Given the description of an element on the screen output the (x, y) to click on. 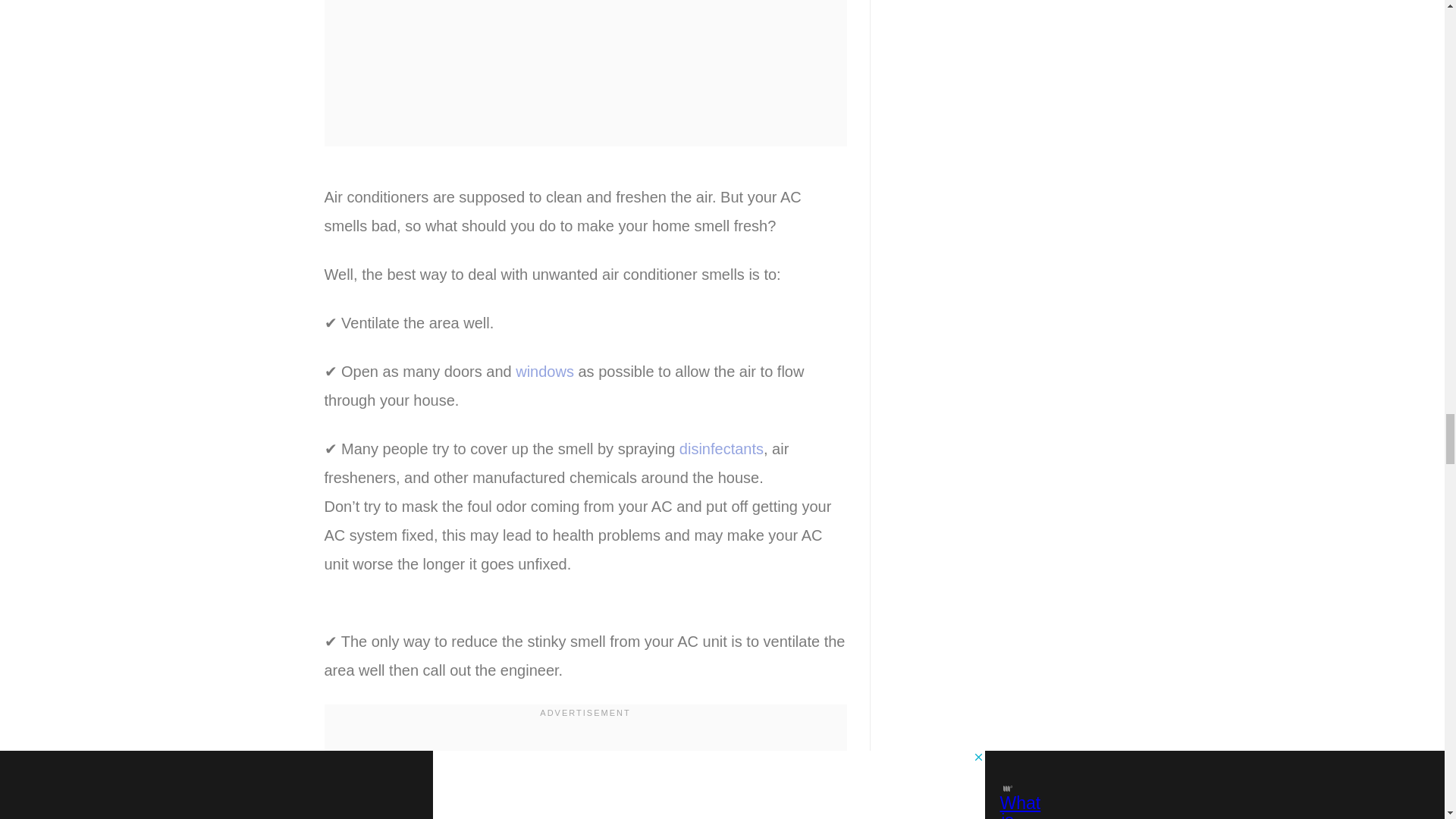
windows (544, 371)
disinfectants (720, 448)
